Given the description of an element on the screen output the (x, y) to click on. 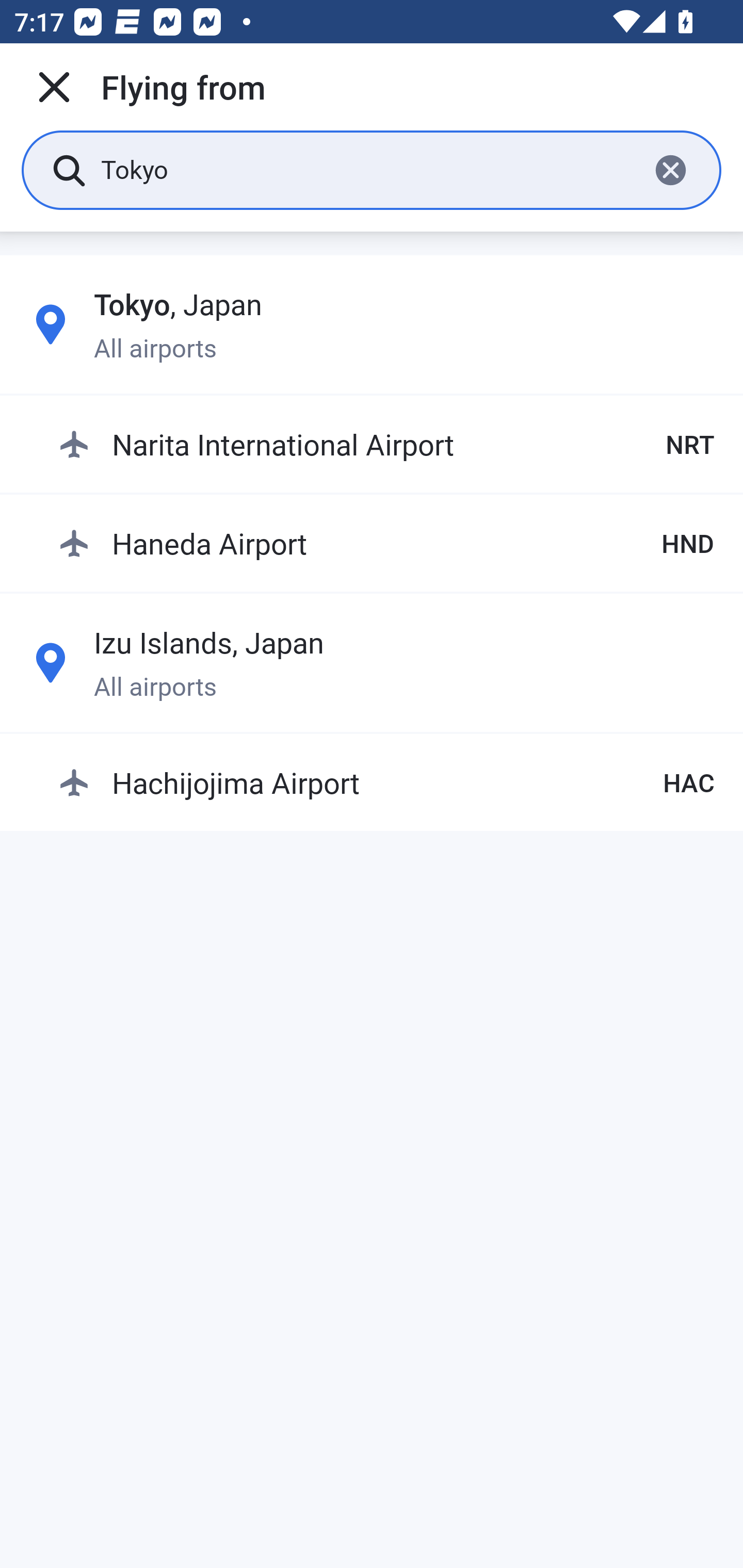
Tokyo (367, 169)
Tokyo, Japan All airports (371, 324)
Narita International Airport NRT (385, 444)
Haneda Airport HND (385, 543)
Izu Islands, Japan All airports (371, 662)
Hachijojima Airport HAC (385, 782)
